Given the description of an element on the screen output the (x, y) to click on. 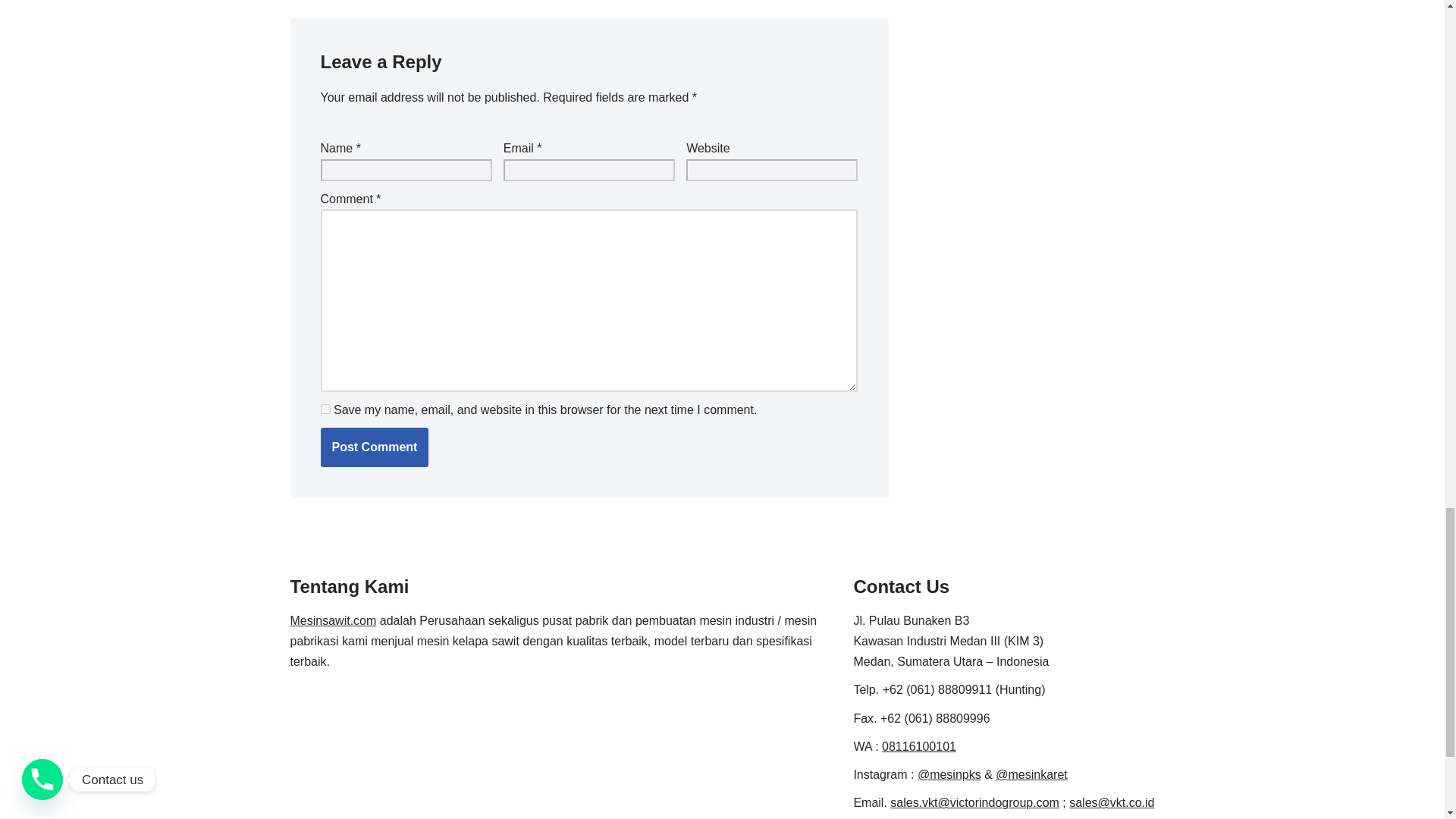
Post Comment (374, 446)
yes (325, 409)
Post Comment (374, 446)
Mesinsawit.com (332, 620)
08116100101 (919, 746)
